Given the description of an element on the screen output the (x, y) to click on. 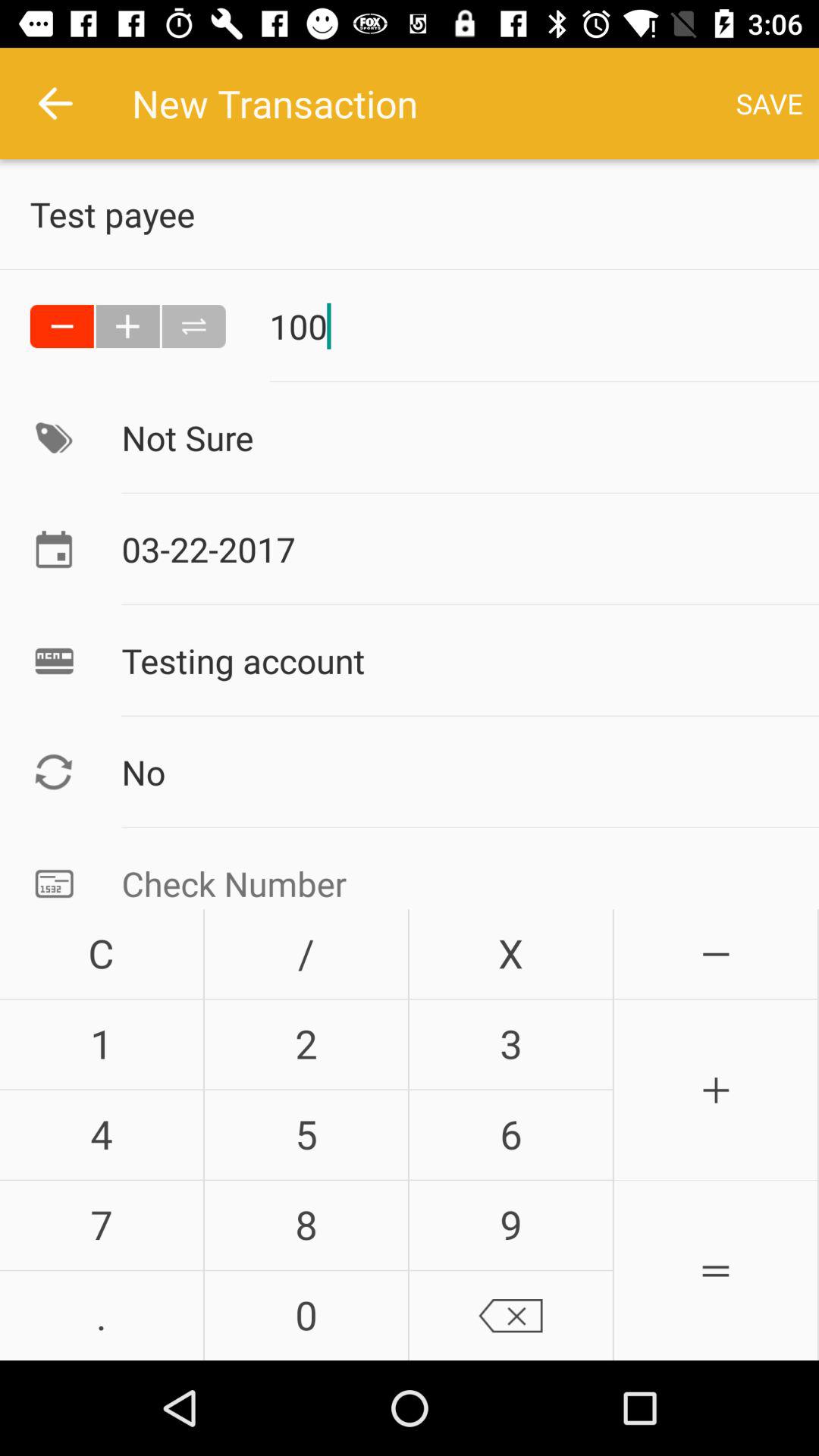
go to left of no (53, 772)
select  symbol next to  (127, 325)
click icon left to text check number (53, 881)
click on the text below new transaction (424, 213)
select the calendar image option beside 03222017 date (53, 549)
